Given the description of an element on the screen output the (x, y) to click on. 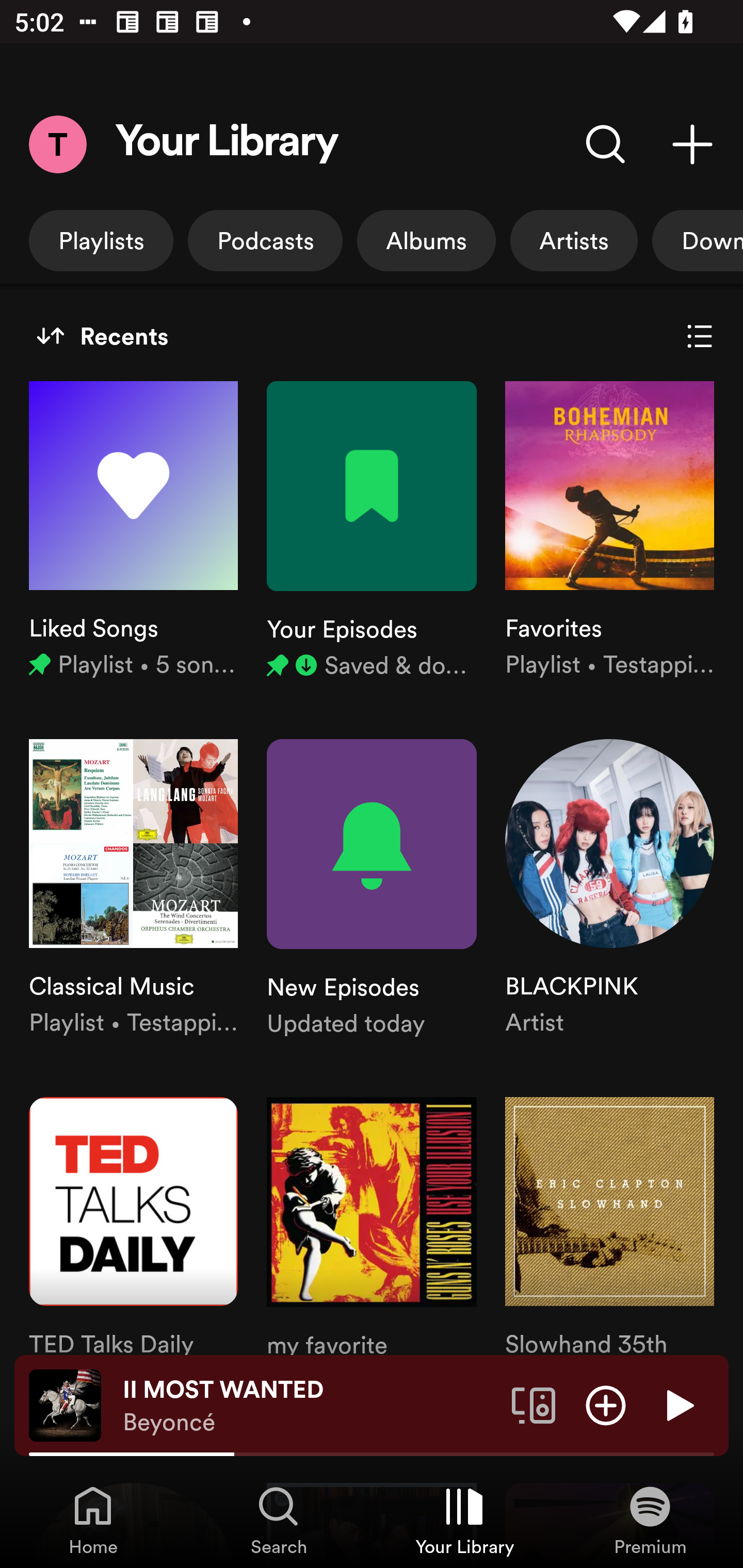
Menu (57, 144)
Search Your Library (605, 144)
Create playlist (692, 144)
Your Library Your Library Heading (226, 144)
Playlists, show only playlists. (100, 240)
Podcasts, show only podcasts. (264, 240)
Albums, show only albums. (426, 240)
Artists, show only artists. (573, 240)
Downloaded, show only downloaded. (697, 240)
Recents (101, 336)
Show List view (699, 336)
BLACKPINK, Artist,  BLACKPINK Artist (609, 888)
II MOST WANTED Beyoncé (309, 1405)
The cover art of the currently playing track (64, 1404)
Connect to a device. Opens the devices menu (533, 1404)
Add item (605, 1404)
Play (677, 1404)
Home, Tab 1 of 4 Home Home (92, 1519)
Search, Tab 2 of 4 Search Search (278, 1519)
Your Library, Tab 3 of 4 Your Library Your Library (464, 1519)
Premium, Tab 4 of 4 Premium Premium (650, 1519)
